Given the description of an element on the screen output the (x, y) to click on. 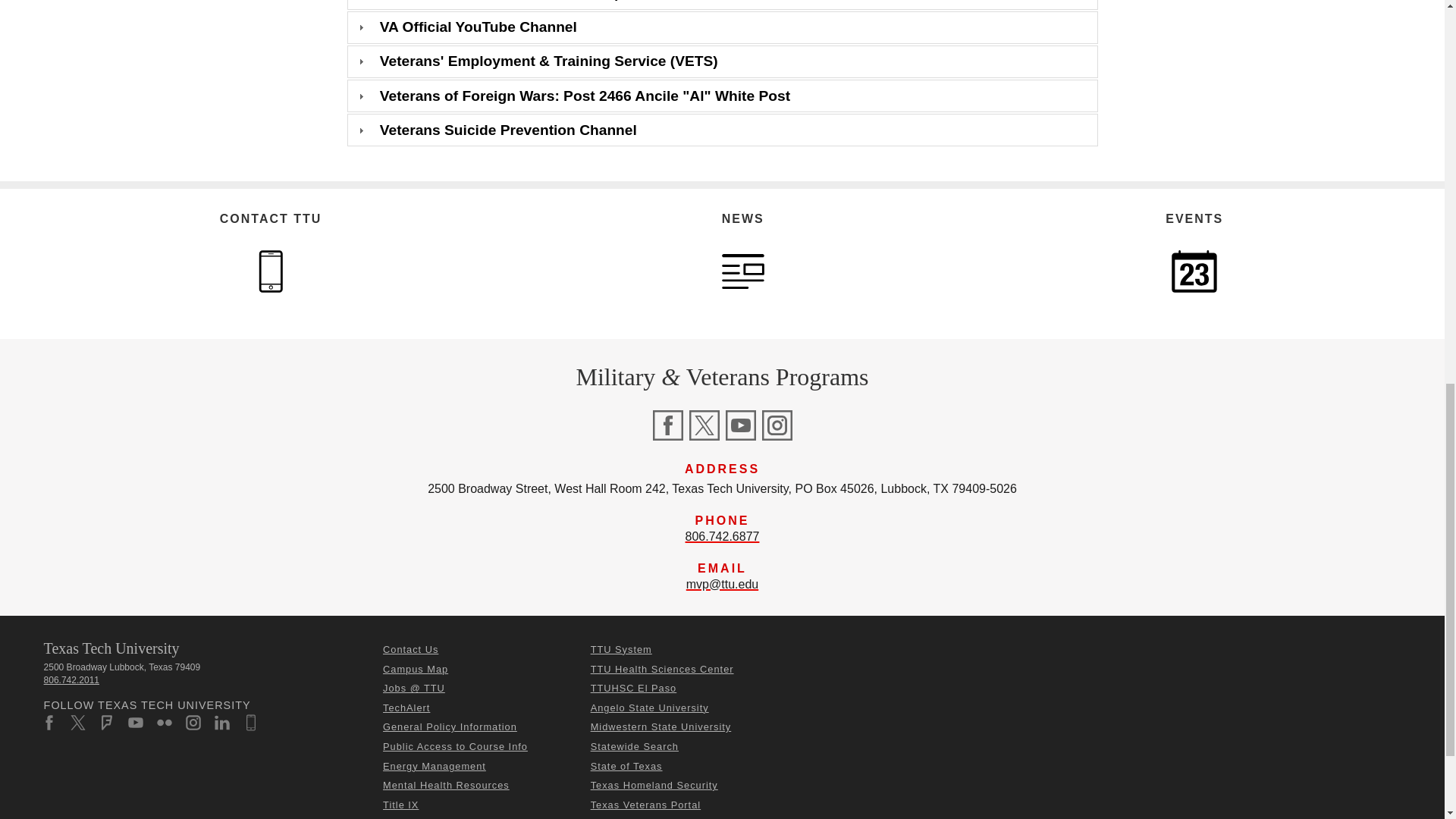
NEWS FOR NEWSNEWS FOR NEWS (743, 271)
CONTACT CONTACT TTUCONTACT CONTACT TTU (270, 271)
EVENTSEVENTS (1193, 271)
